Given the description of an element on the screen output the (x, y) to click on. 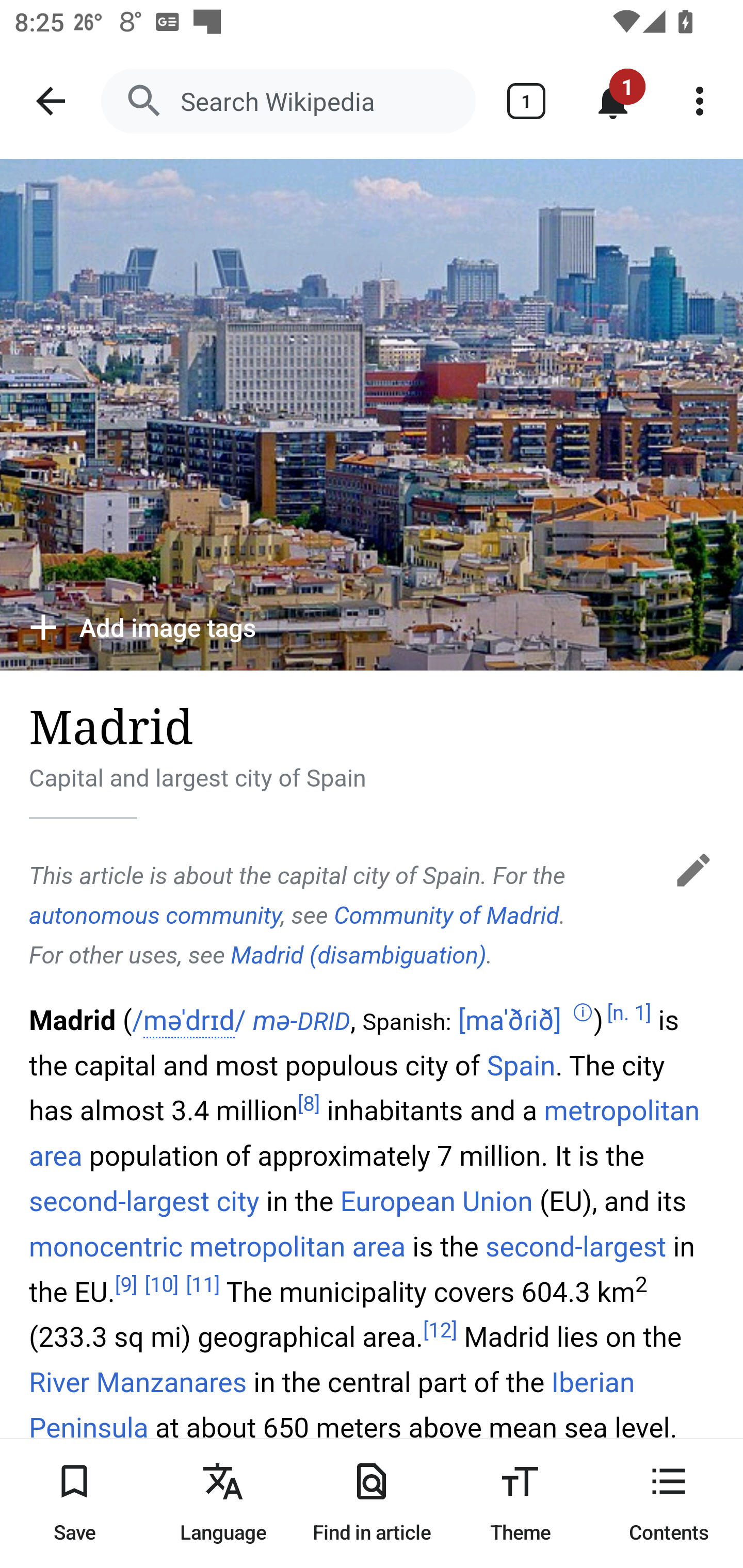
Show tabs 1 (525, 100)
Notifications 1 (612, 100)
Navigate up (50, 101)
More options (699, 101)
Search Wikipedia (288, 100)
Image: Madrid (371, 414)
Add image tags (371, 627)
index (672, 867)
autonomous community (154, 915)
Community of Madrid (445, 915)
Madrid (disambiguation) (357, 955)
ⓘ (581, 1013)
[n. ] [n.  1 ] (629, 1013)
/məˈdrɪd/ / m ə ˈ d r ɪ d / (188, 1021)
mə-DRID English pronunciation respelling (301, 1020)
[maˈðɾið] [ maˈðɾið ] (509, 1020)
Spain (520, 1065)
[] [ 8 ] (308, 1102)
metropolitan area (364, 1133)
second-largest city (144, 1200)
European Union (436, 1200)
monocentric (106, 1246)
metropolitan area (296, 1246)
second-largest (575, 1246)
[] [ 9 ] (125, 1284)
[] [ 10 ] (162, 1284)
[] [ 11 ] (203, 1284)
[] [ 12 ] (440, 1330)
River Manzanares (137, 1382)
Iberian Peninsula (332, 1405)
Save (74, 1502)
Language (222, 1502)
Find in article (371, 1502)
Theme (519, 1502)
Contents (668, 1502)
